Given the description of an element on the screen output the (x, y) to click on. 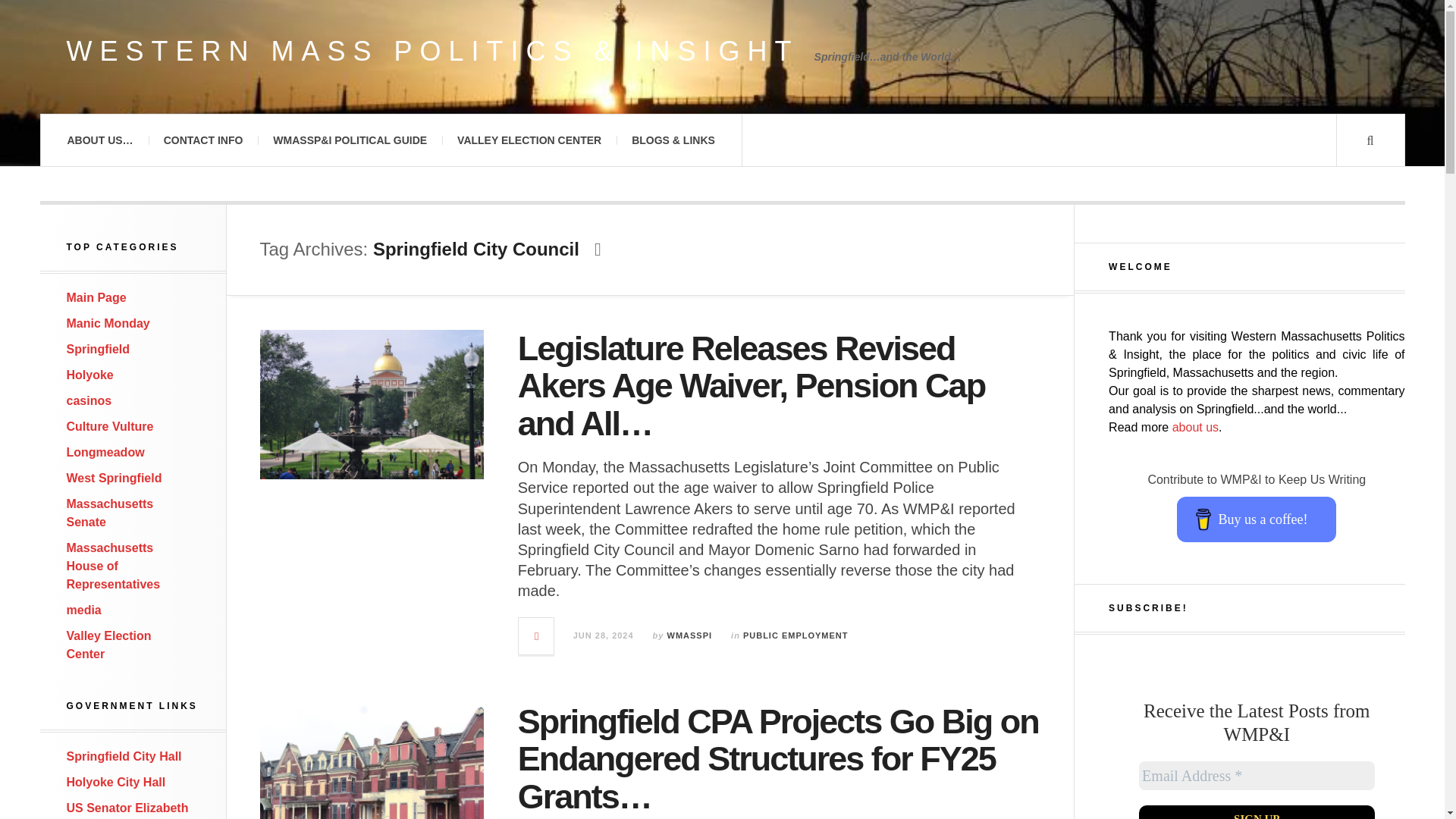
Posts by wmasspi (689, 634)
View all posts in Public Employment (795, 634)
Go Home (96, 297)
Holyoke (89, 374)
media (83, 609)
Valley Election Center (108, 644)
Massachusetts House of Representatives (113, 565)
Springfield City Hall (124, 756)
US Senator Elizabeth Warren (127, 810)
Read More... (536, 636)
Massachusetts Senate (110, 512)
Longmeadow (105, 451)
Culture Vulture (110, 426)
Springfield (98, 349)
West Springfield (113, 477)
